Given the description of an element on the screen output the (x, y) to click on. 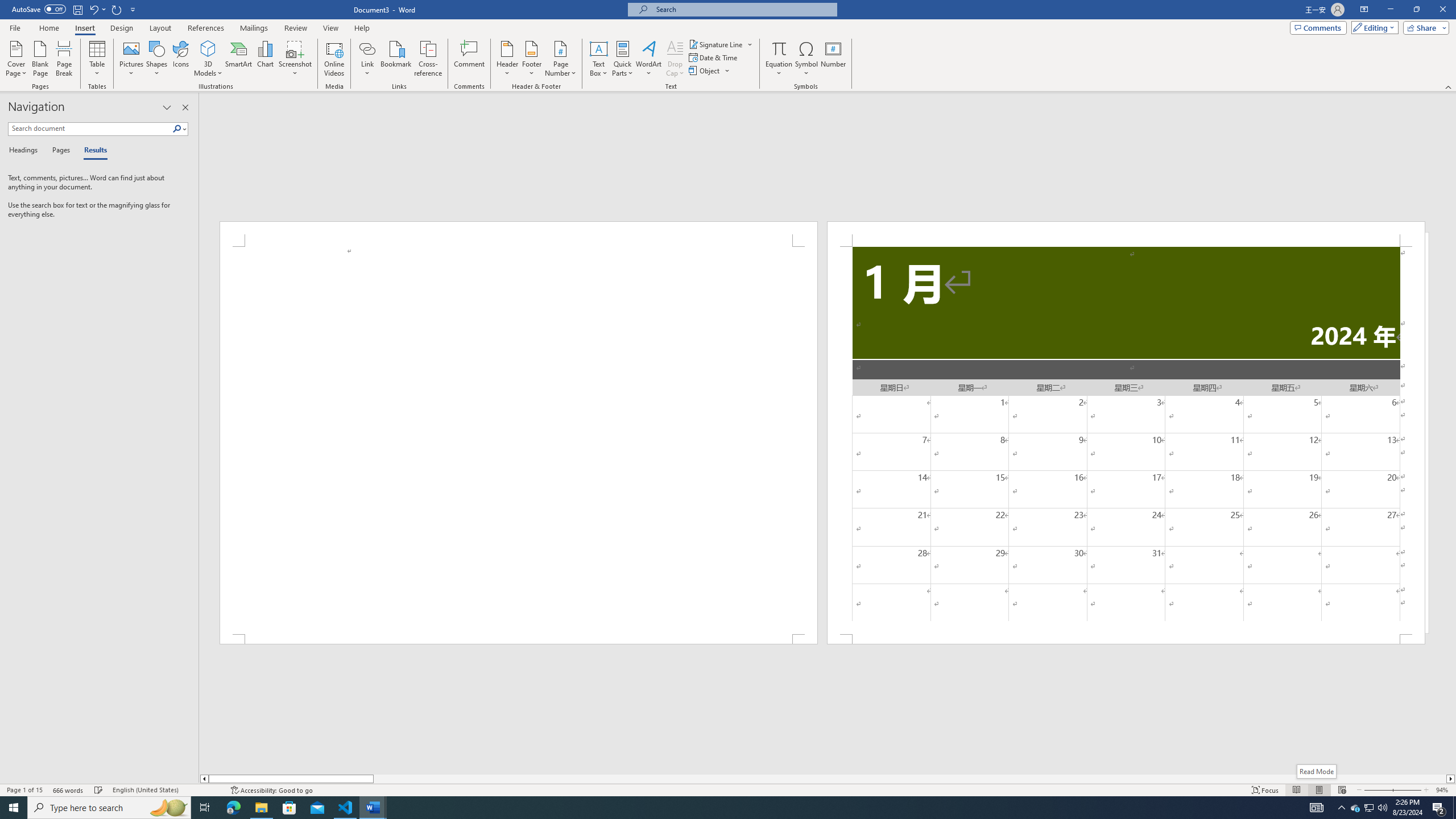
System (6, 6)
Print Layout (1318, 790)
Signature Line (721, 44)
Minimize (1390, 9)
Page 2 content (1126, 439)
Link (367, 48)
Close pane (185, 107)
Spelling and Grammar Check Checking (98, 790)
